Given the description of an element on the screen output the (x, y) to click on. 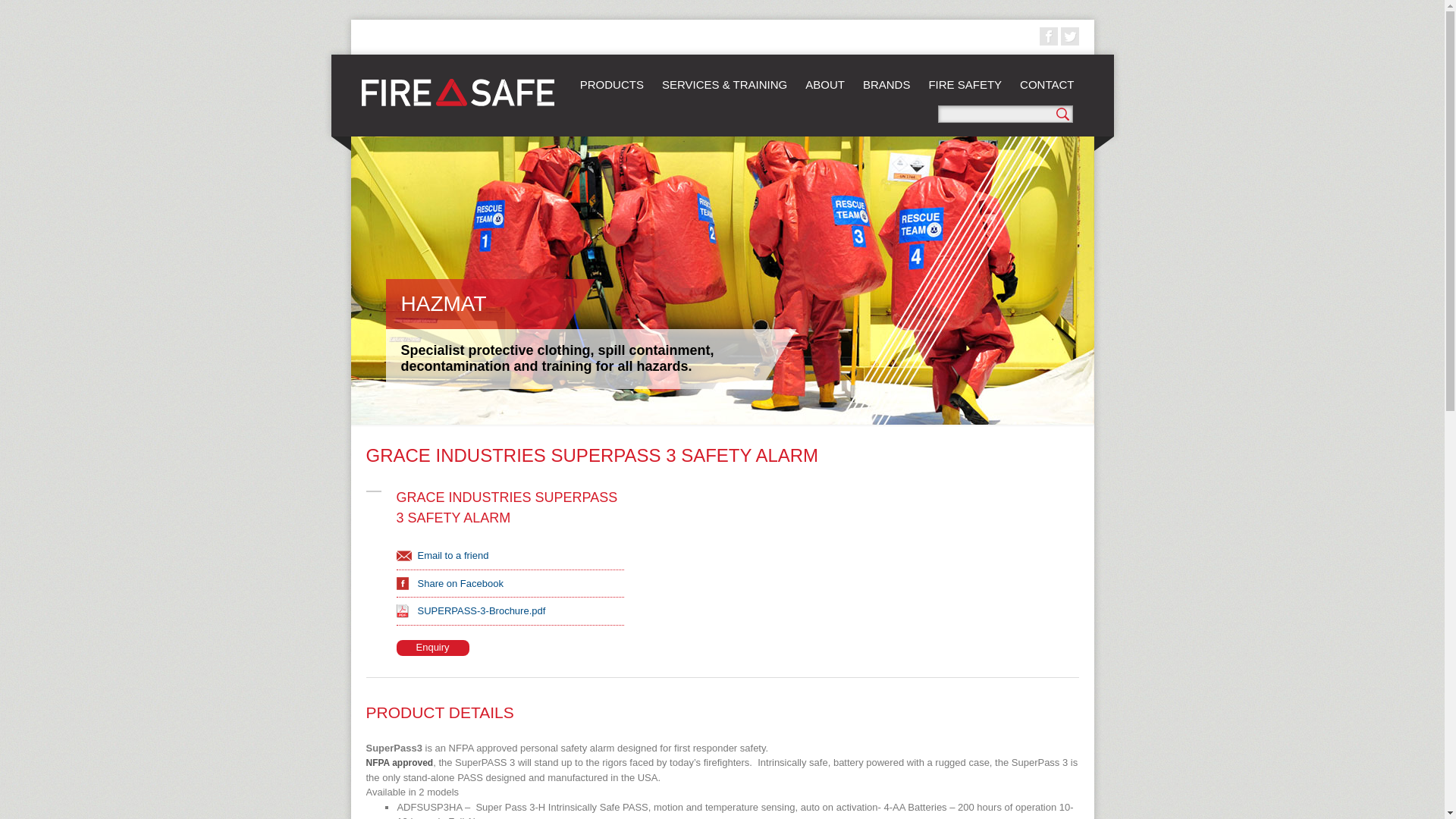
FIRE SAFETY (964, 84)
Email to a friend (444, 555)
PRODUCTS (611, 84)
Share on Facebook (451, 583)
CONTACT (1046, 84)
BRANDS (886, 84)
Enquiry (432, 647)
ABOUT (824, 84)
Follow me on fb (1048, 36)
SUPERPASS-3-Brochure.pdf (472, 610)
Follow me on twitter (1068, 36)
